Given the description of an element on the screen output the (x, y) to click on. 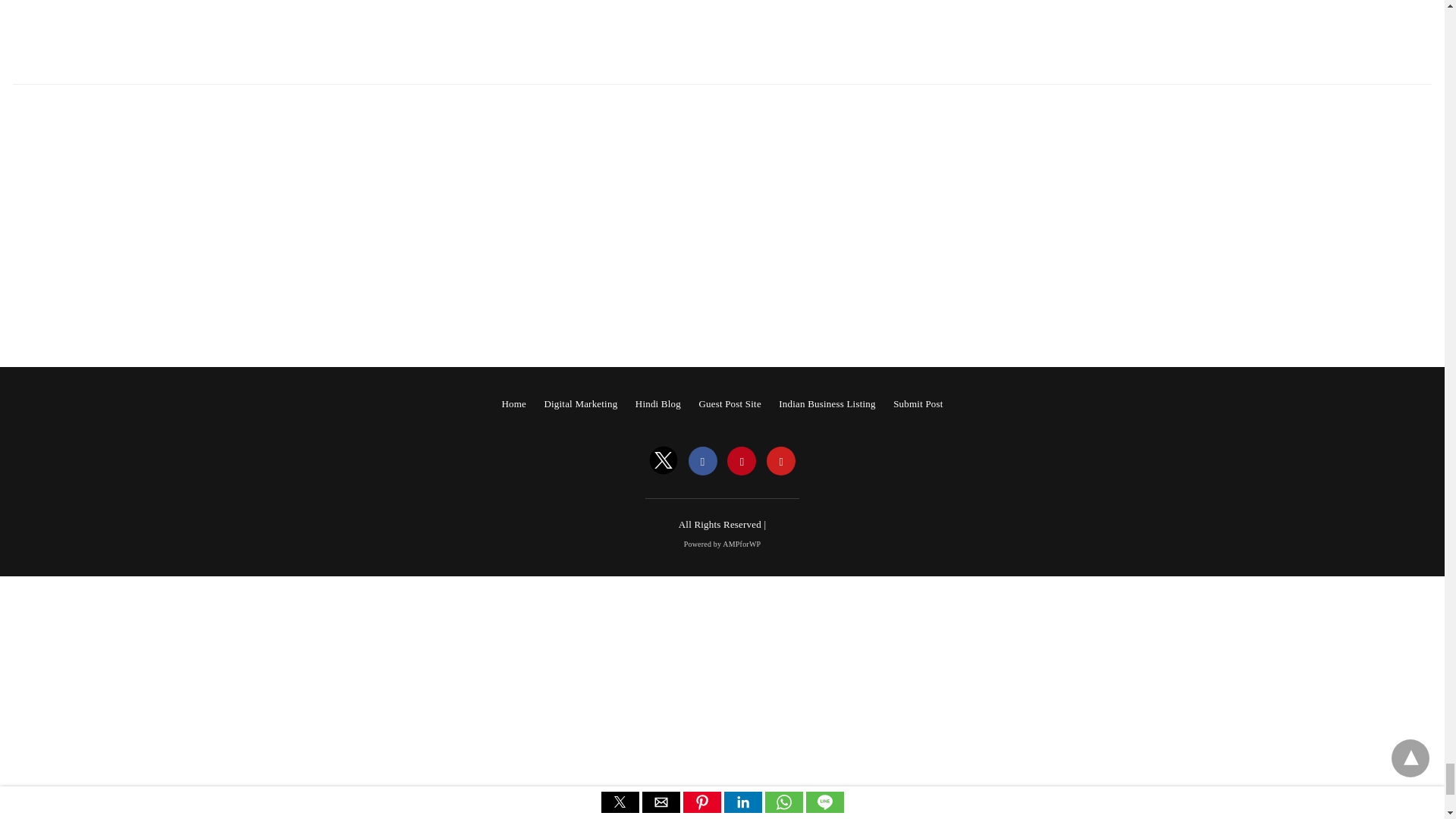
Home (512, 403)
Digital Marketing (580, 403)
twitter profile (663, 461)
